Given the description of an element on the screen output the (x, y) to click on. 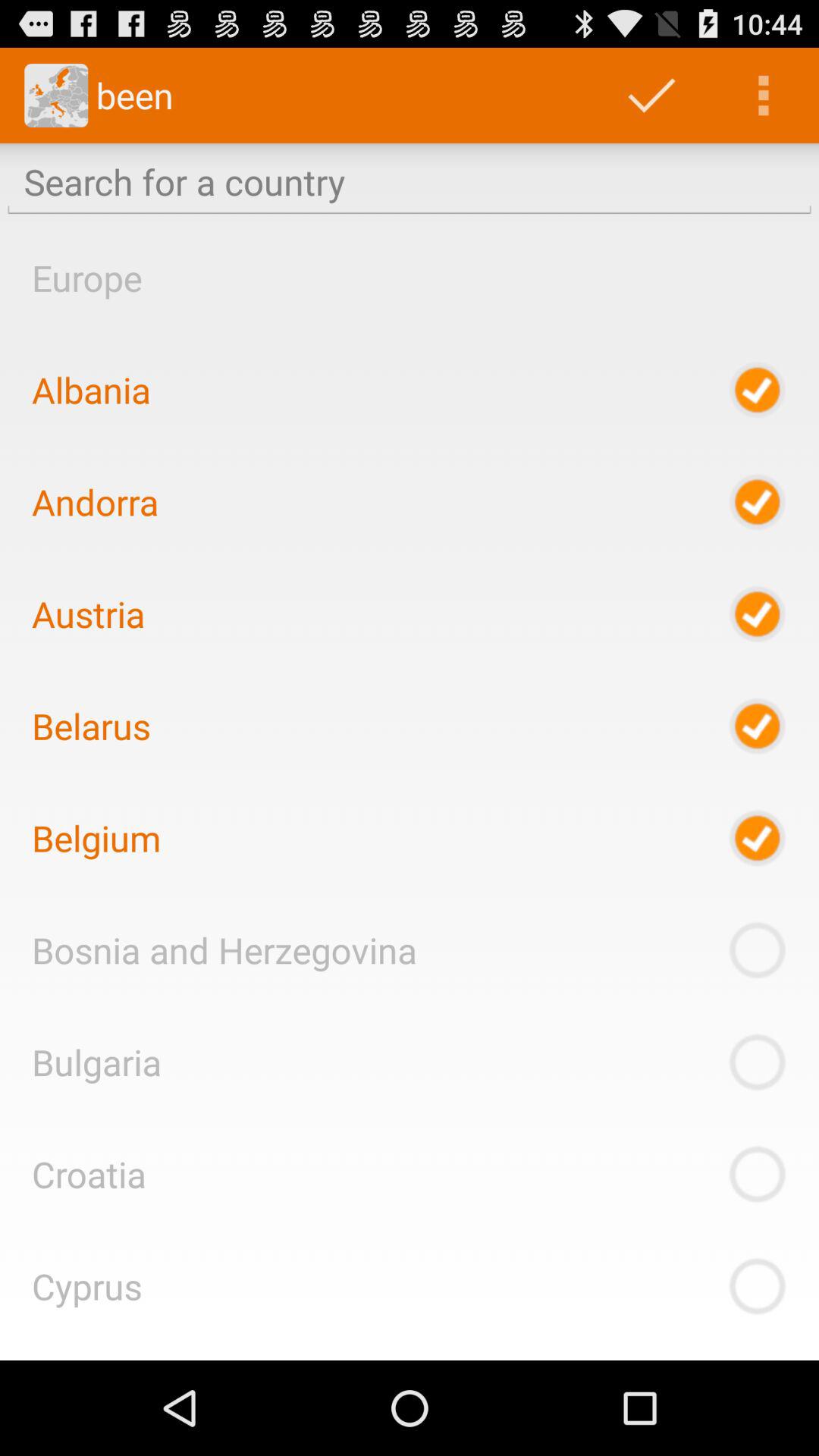
choose item to the right of been (651, 95)
